Given the description of an element on the screen output the (x, y) to click on. 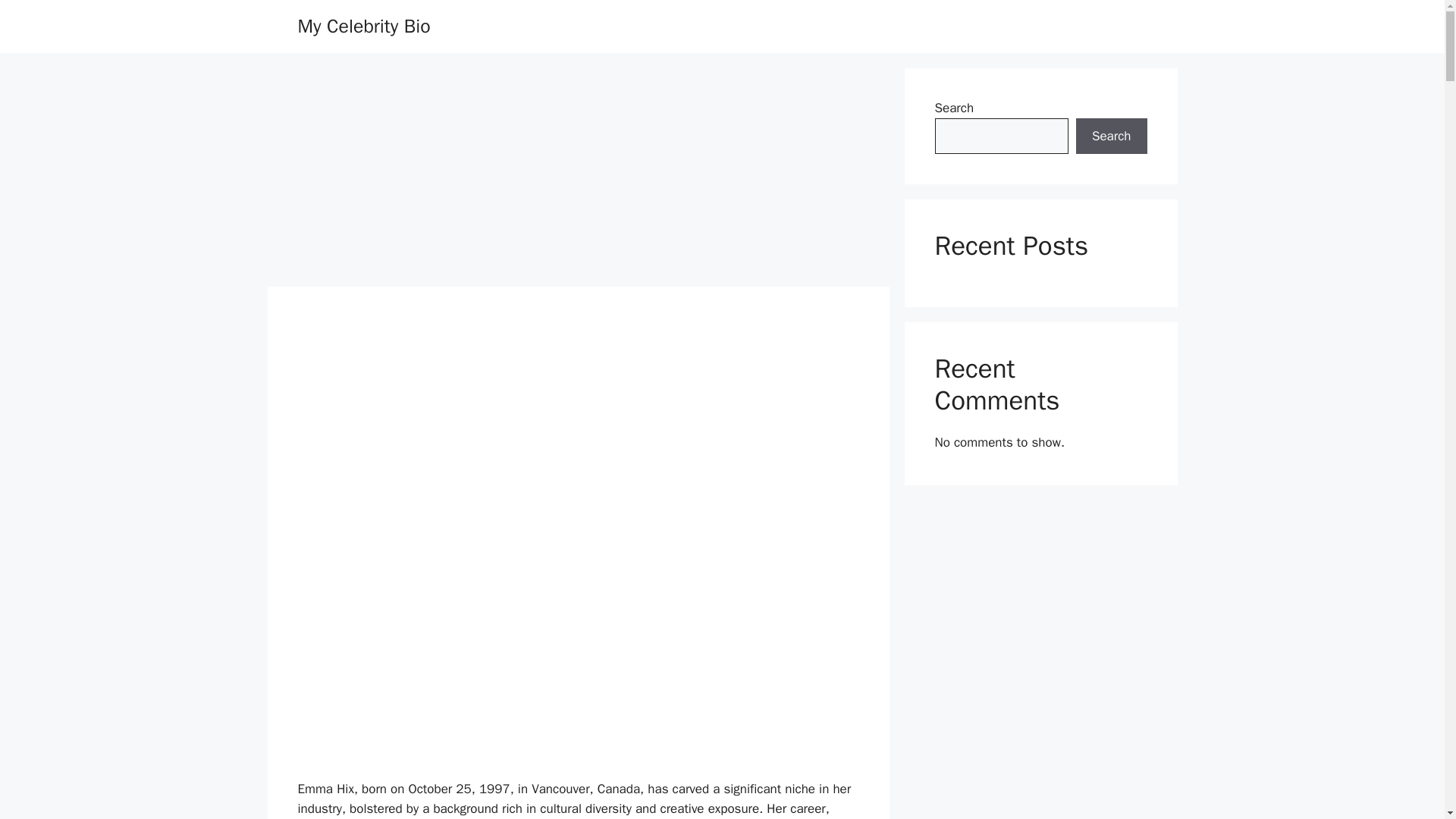
Advertisement (578, 449)
Advertisement (577, 173)
Search (1111, 135)
My Celebrity Bio (363, 25)
Advertisement (578, 667)
